Given the description of an element on the screen output the (x, y) to click on. 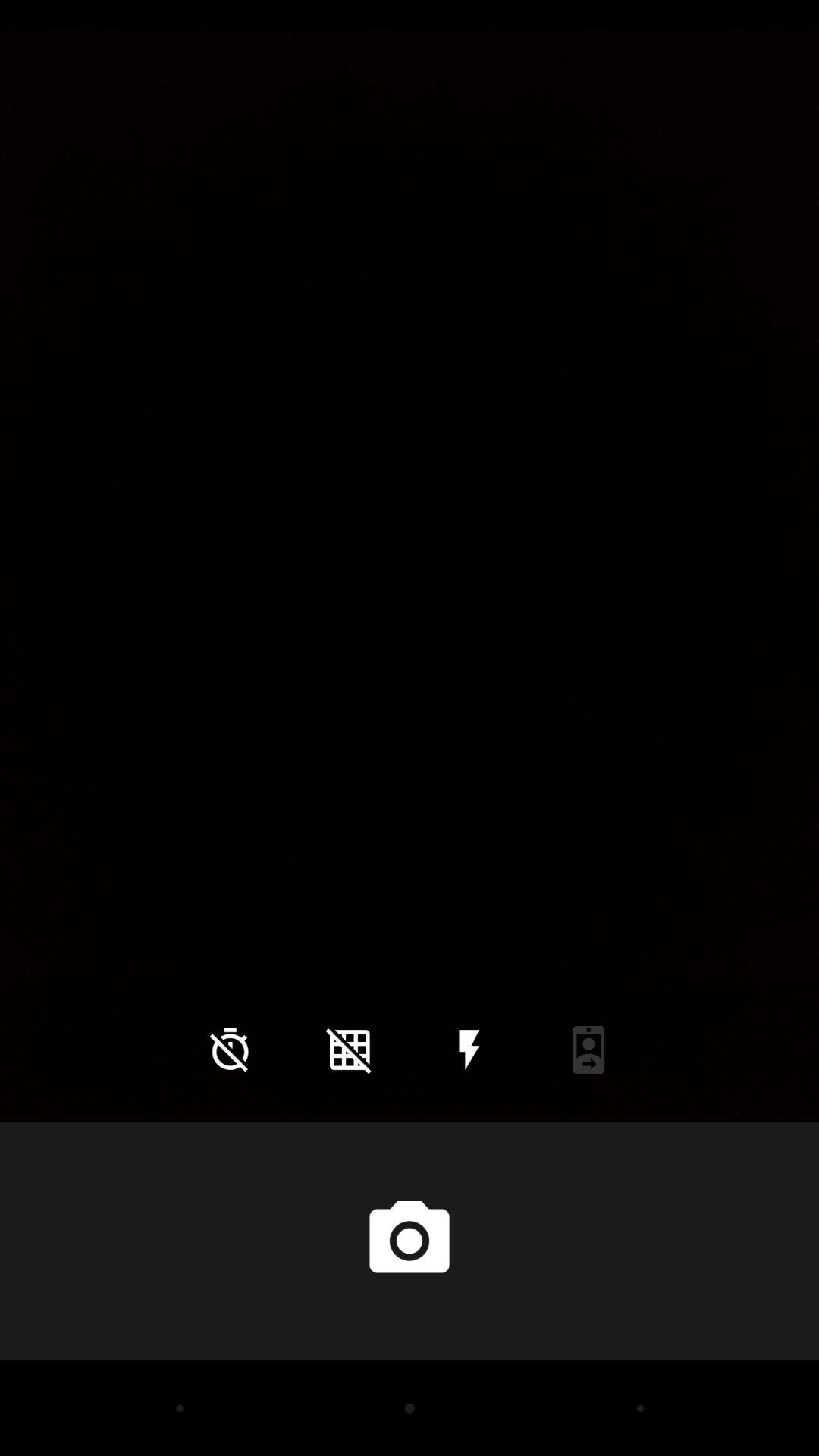
select icon at the bottom right corner (588, 1049)
